Given the description of an element on the screen output the (x, y) to click on. 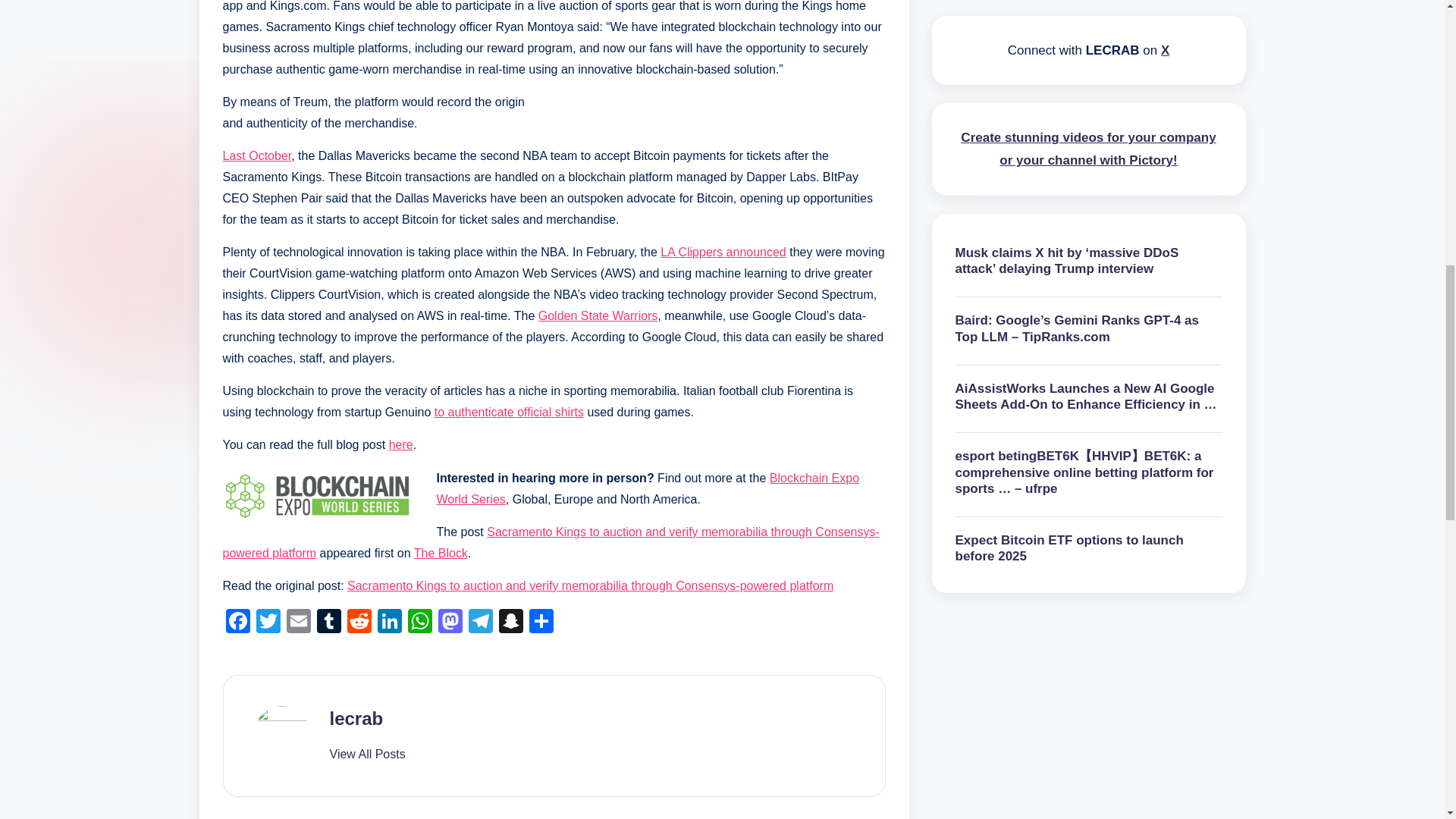
LA Clippers announced (723, 251)
Last October (257, 155)
Golden State Warriors (598, 315)
to authenticate official shirts (508, 411)
here (400, 444)
